Given the description of an element on the screen output the (x, y) to click on. 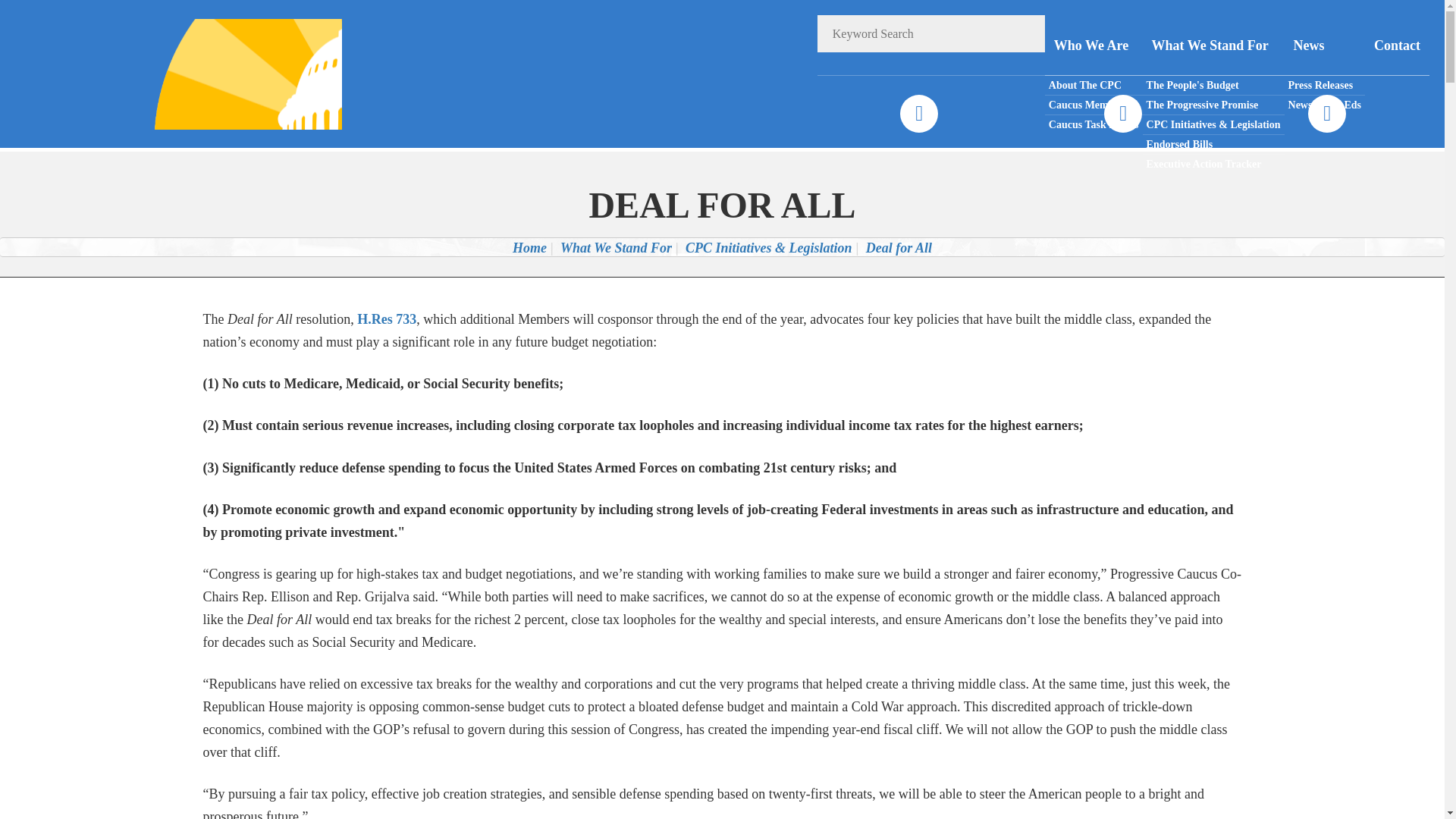
Caucus Members (1093, 105)
YouTube (1326, 113)
The People's Budget (1213, 85)
Press Releases (1324, 85)
Executive Action Tracker (1213, 163)
H.Res 733 (386, 319)
Twitter (1122, 113)
Who We Are (1093, 45)
Home (529, 247)
What We Stand For (615, 247)
